Given the description of an element on the screen output the (x, y) to click on. 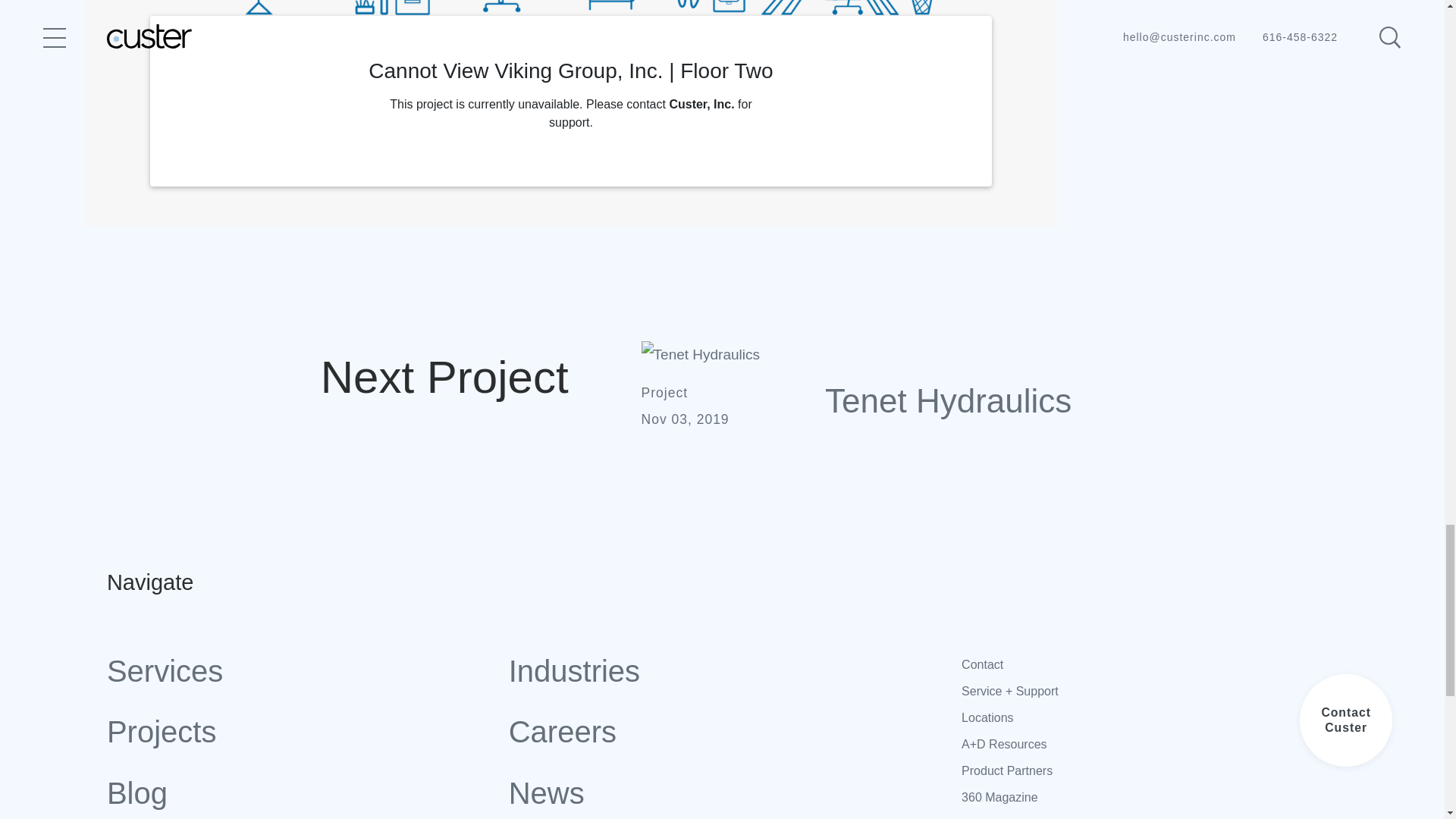
Industries (695, 671)
360 Magazine (1095, 796)
Locations (1095, 717)
Services (293, 671)
Careers (695, 731)
Advisory Board (1095, 814)
News (695, 793)
Product Partners (1095, 770)
Projects (293, 731)
Blog (293, 793)
